Given the description of an element on the screen output the (x, y) to click on. 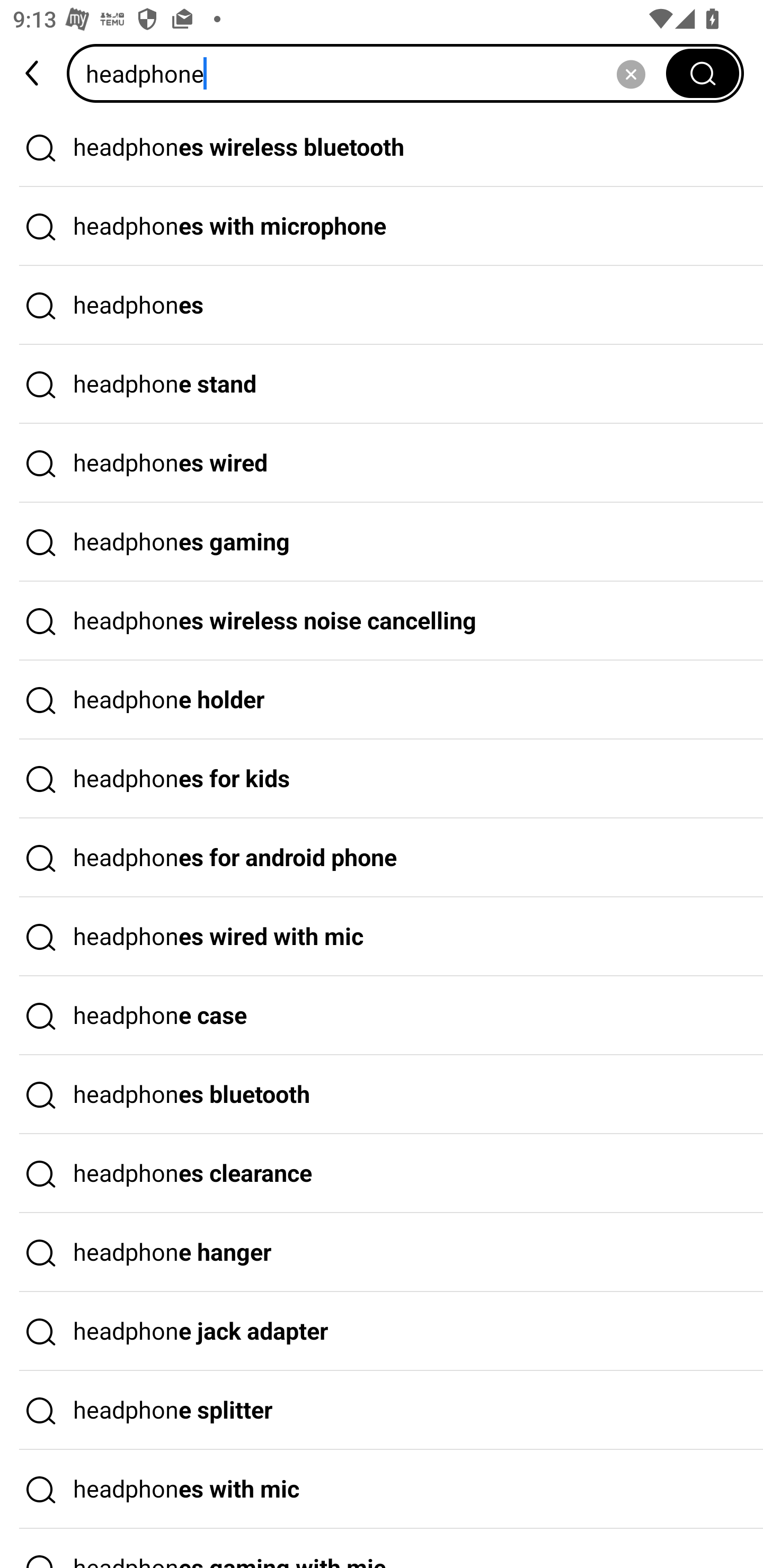
back (33, 72)
headphone (372, 73)
Delete search history (630, 73)
headphones wireless bluetooth (381, 147)
headphones with microphone (381, 226)
headphones (381, 305)
headphone stand (381, 383)
headphones wired (381, 463)
headphones gaming (381, 542)
headphones wireless noise cancelling (381, 620)
headphone holder (381, 700)
headphones for kids (381, 779)
headphones for android phone (381, 857)
headphones wired with mic (381, 936)
headphone case (381, 1015)
headphones bluetooth (381, 1094)
headphones clearance (381, 1173)
headphone hanger (381, 1252)
headphone jack adapter (381, 1331)
headphone splitter (381, 1410)
headphones with mic (381, 1489)
